Given the description of an element on the screen output the (x, y) to click on. 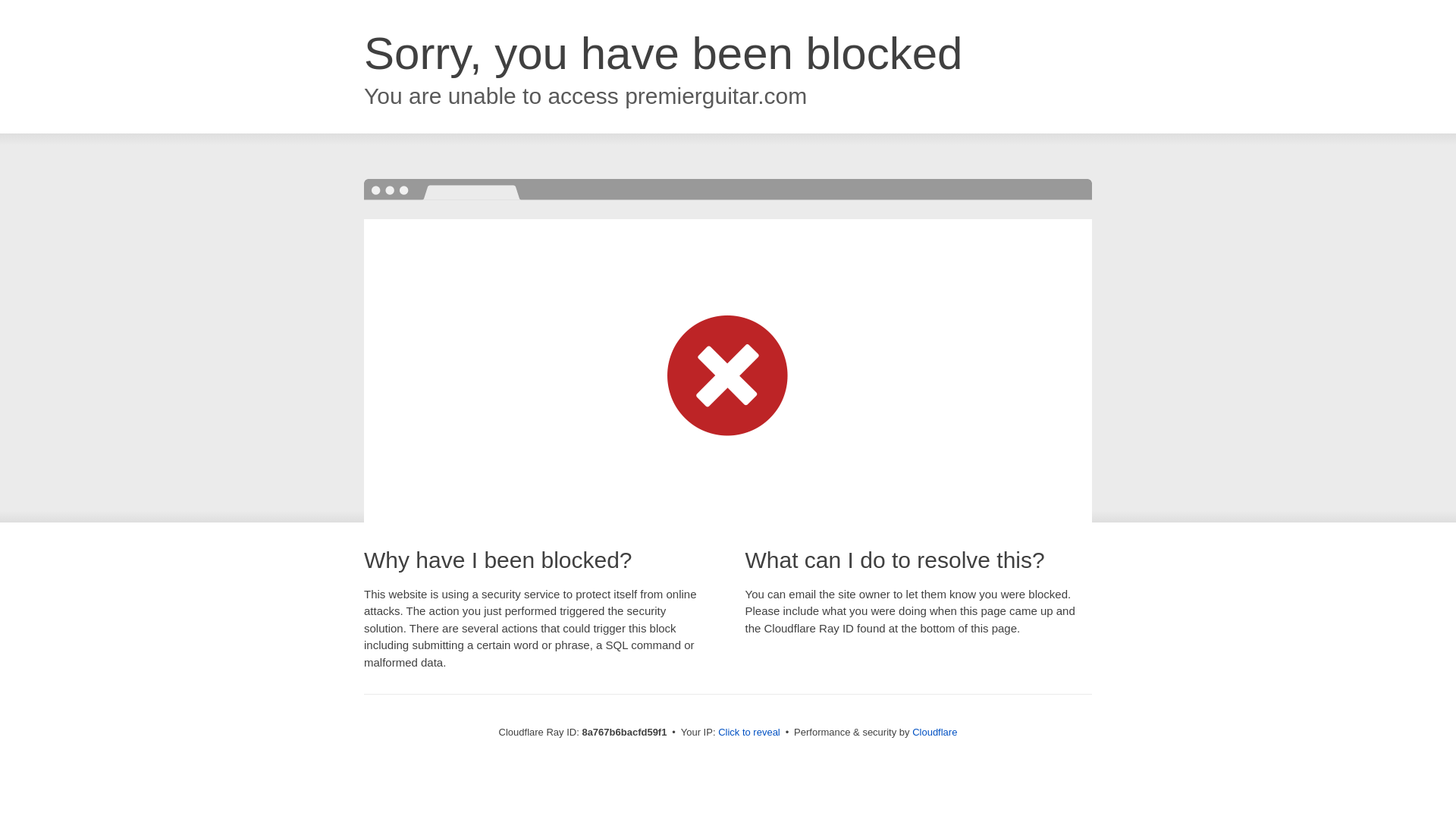
Click to reveal (748, 732)
Cloudflare (934, 731)
